Given the description of an element on the screen output the (x, y) to click on. 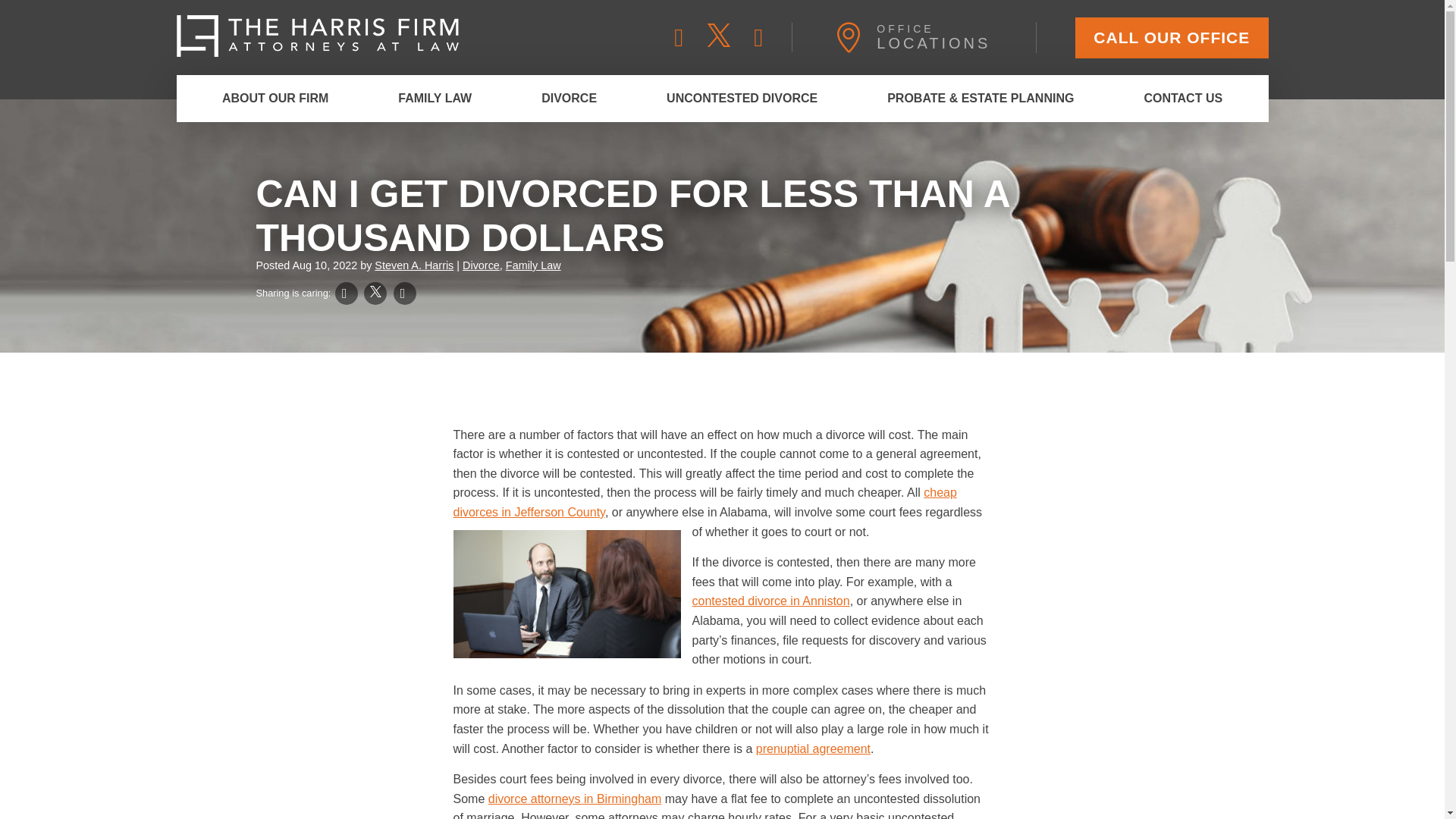
FAMILY LAW (926, 37)
Uncontested Divorce Attorneys (434, 98)
ABOUT OUR FIRM (741, 98)
CALL OUR OFFICE (926, 37)
About Our Law Firm (274, 98)
DIVORCE (1171, 36)
Contested Divorce (274, 98)
Family Law (568, 98)
UNCONTESTED DIVORCE (568, 98)
CALL OUR OFFICE (532, 265)
CONTACT US (741, 98)
Divorce (1171, 36)
Steven A. Harris (1182, 98)
